Given the description of an element on the screen output the (x, y) to click on. 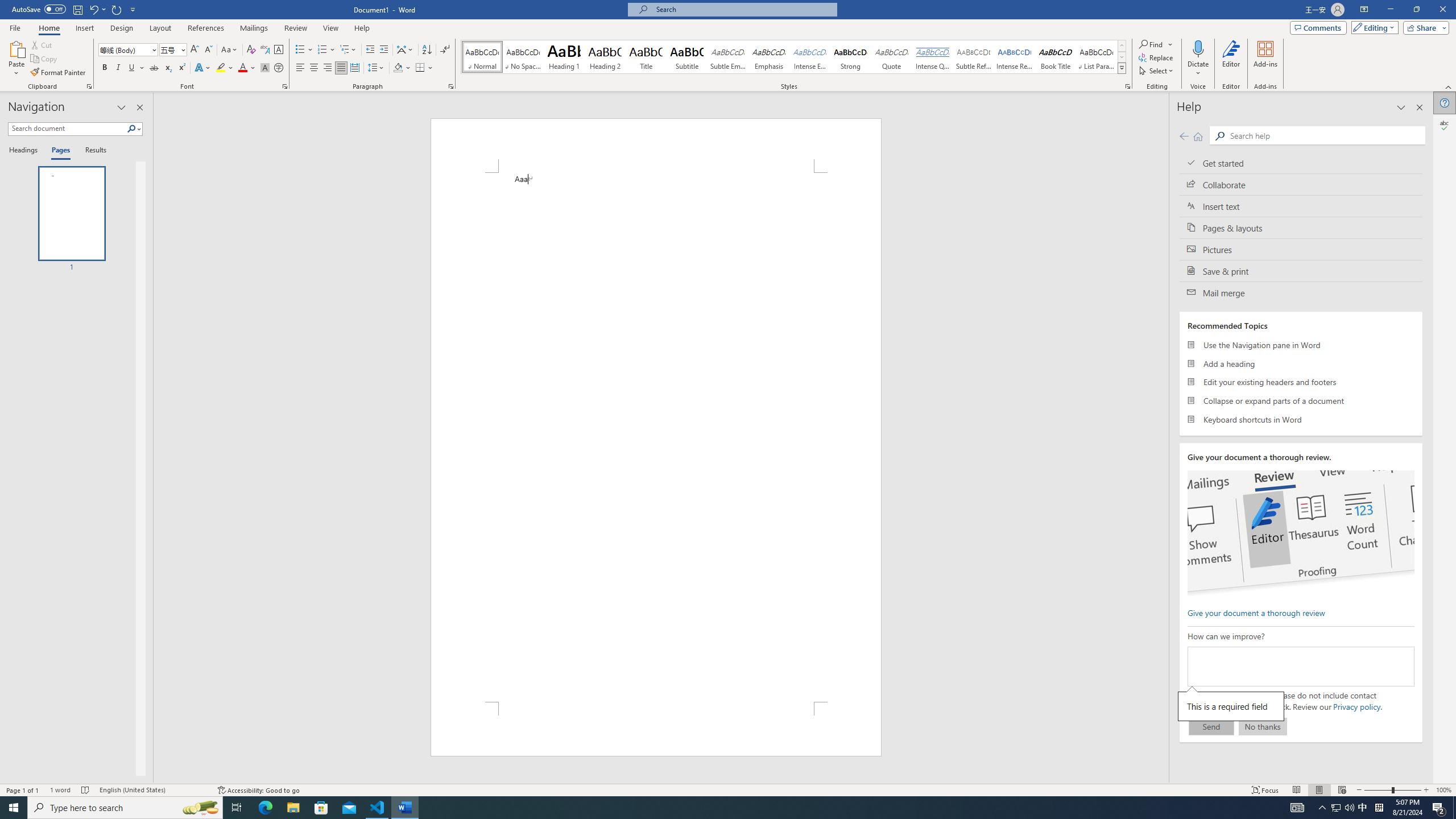
Repeat Increase Indent (117, 9)
Edit your existing headers and footers (1300, 381)
Insert text (1300, 206)
